Given the description of an element on the screen output the (x, y) to click on. 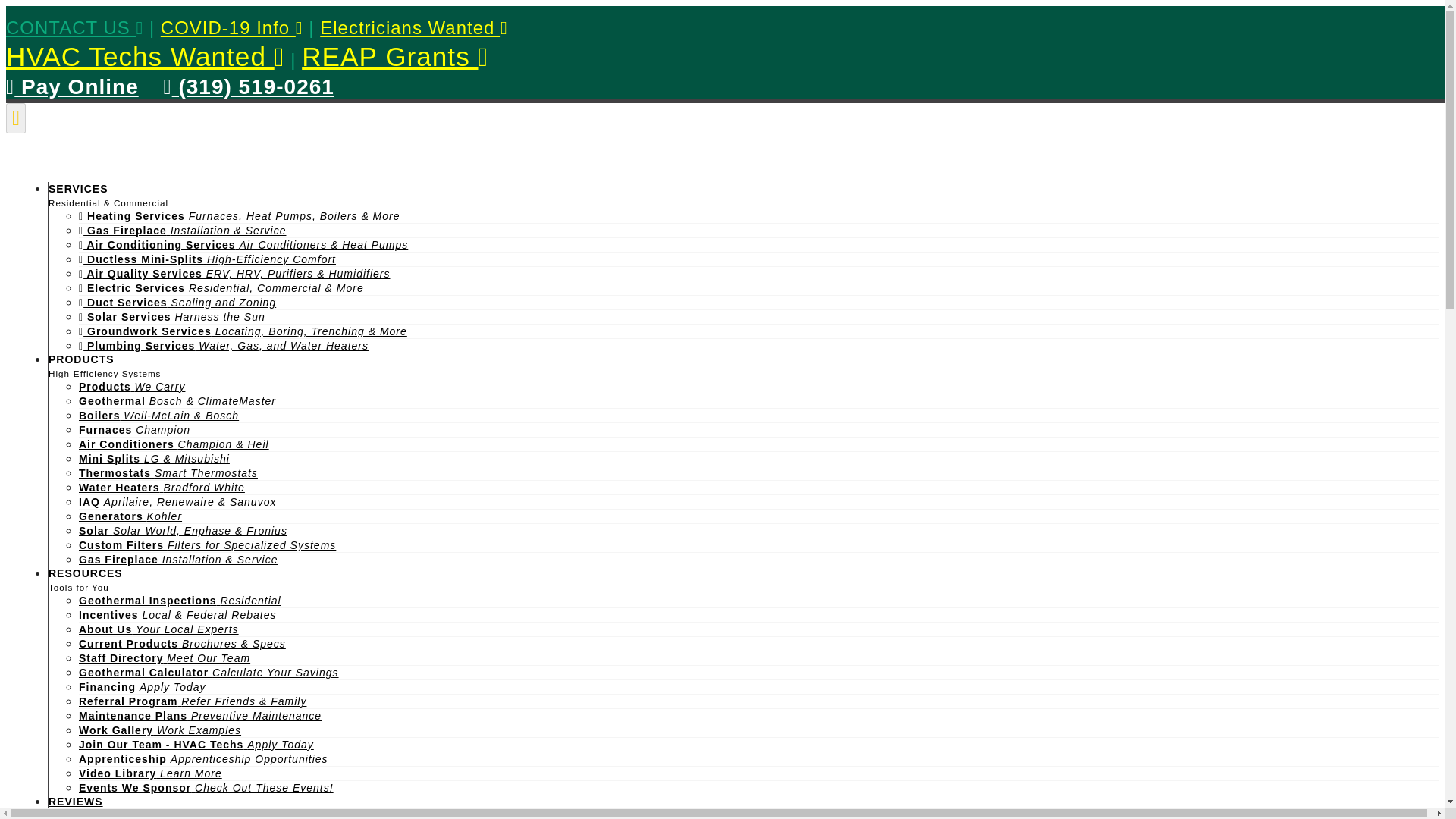
Electricians Wanted (414, 27)
Thermostats Smart Thermostats (167, 472)
Products We Carry (131, 386)
REAP Grants (394, 56)
Plumbing Services Water, Gas, and Water Heaters (223, 345)
CONTACT US (73, 27)
Water Heaters Bradford White (161, 487)
Furnaces Champion (134, 429)
COVID-19 Info (231, 27)
Custom Filters Filters for Specialized Systems (207, 544)
